Given the description of an element on the screen output the (x, y) to click on. 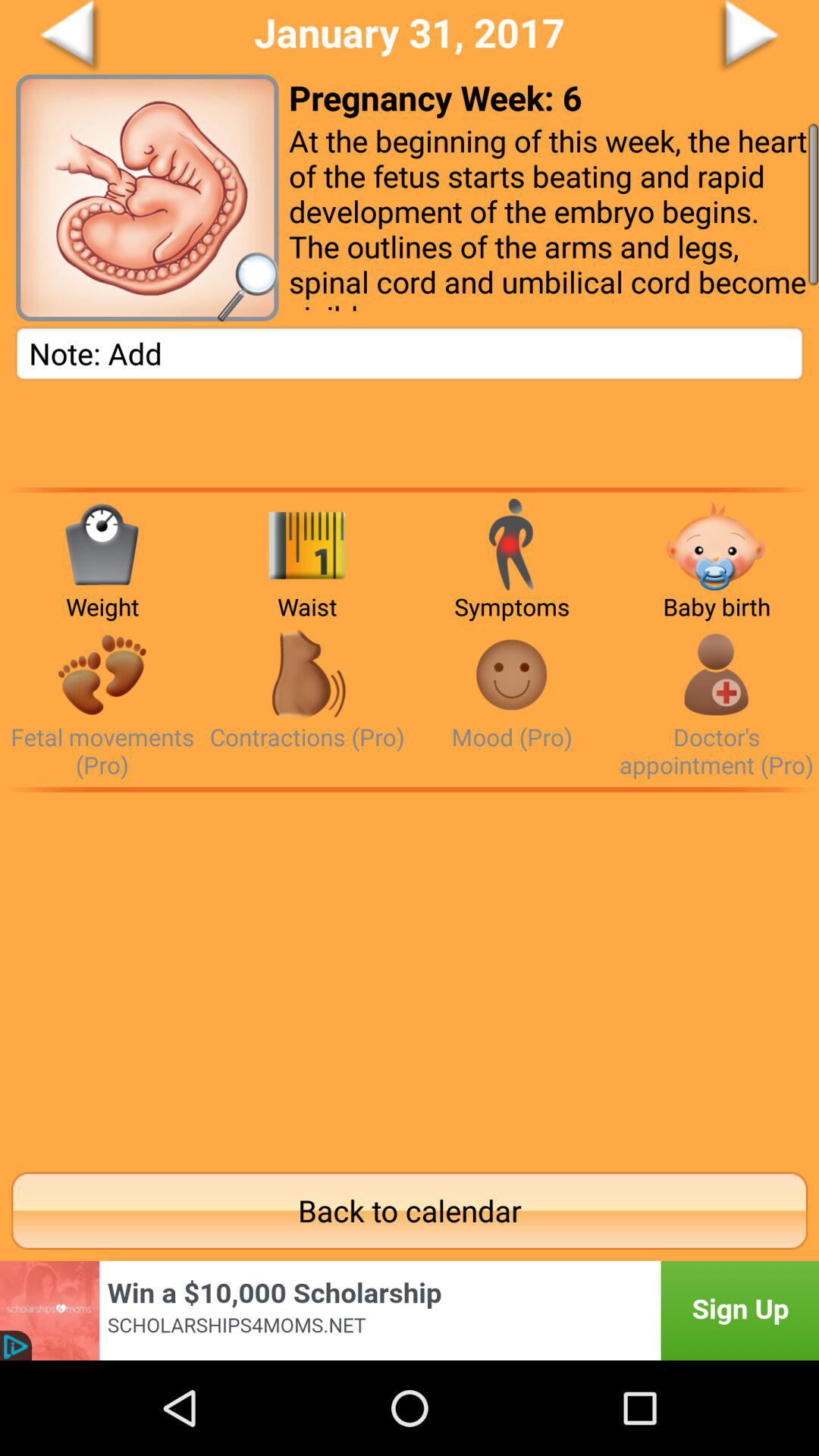
back (127, 37)
